Given the description of an element on the screen output the (x, y) to click on. 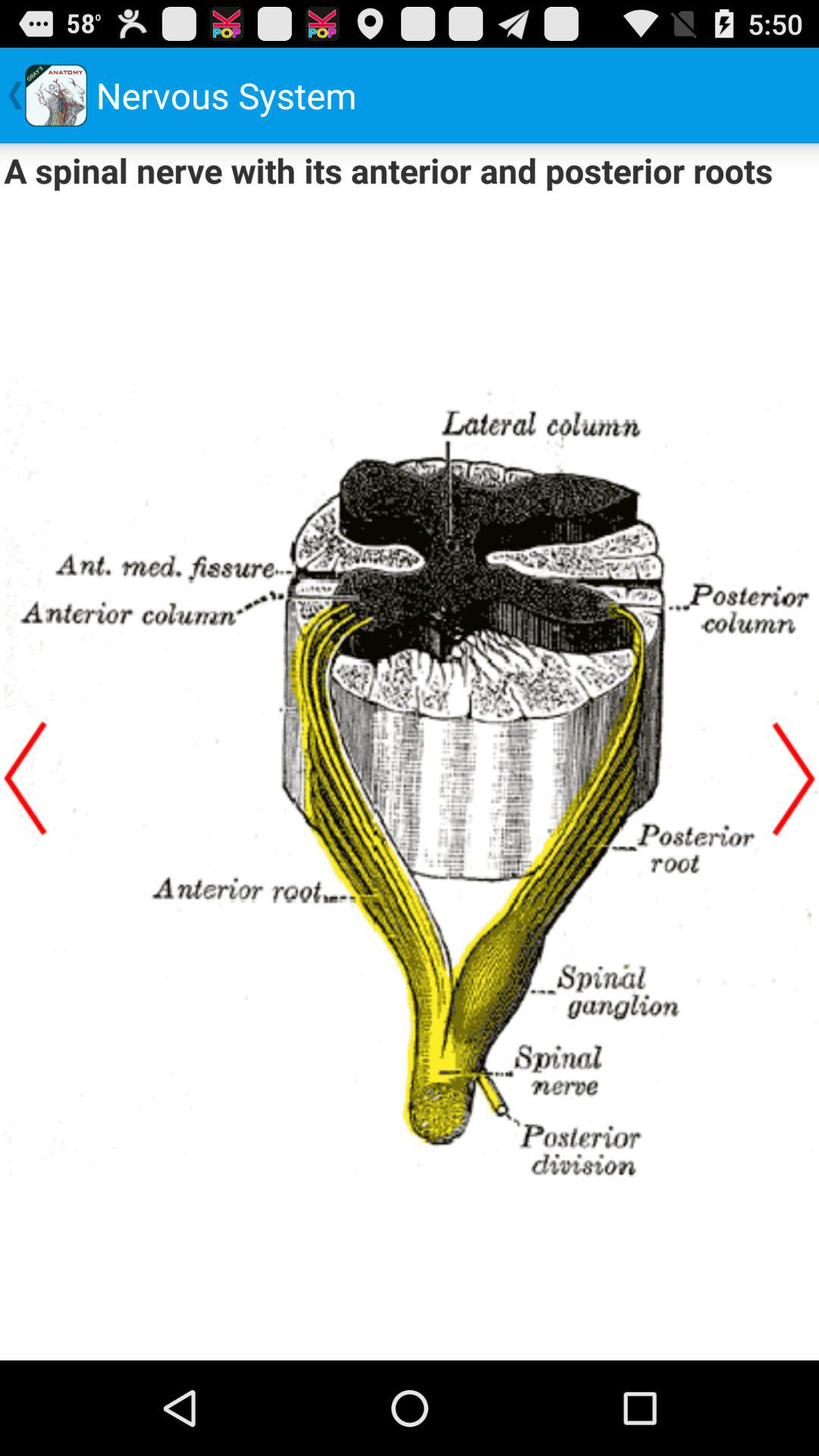
go back (25, 778)
